Given the description of an element on the screen output the (x, y) to click on. 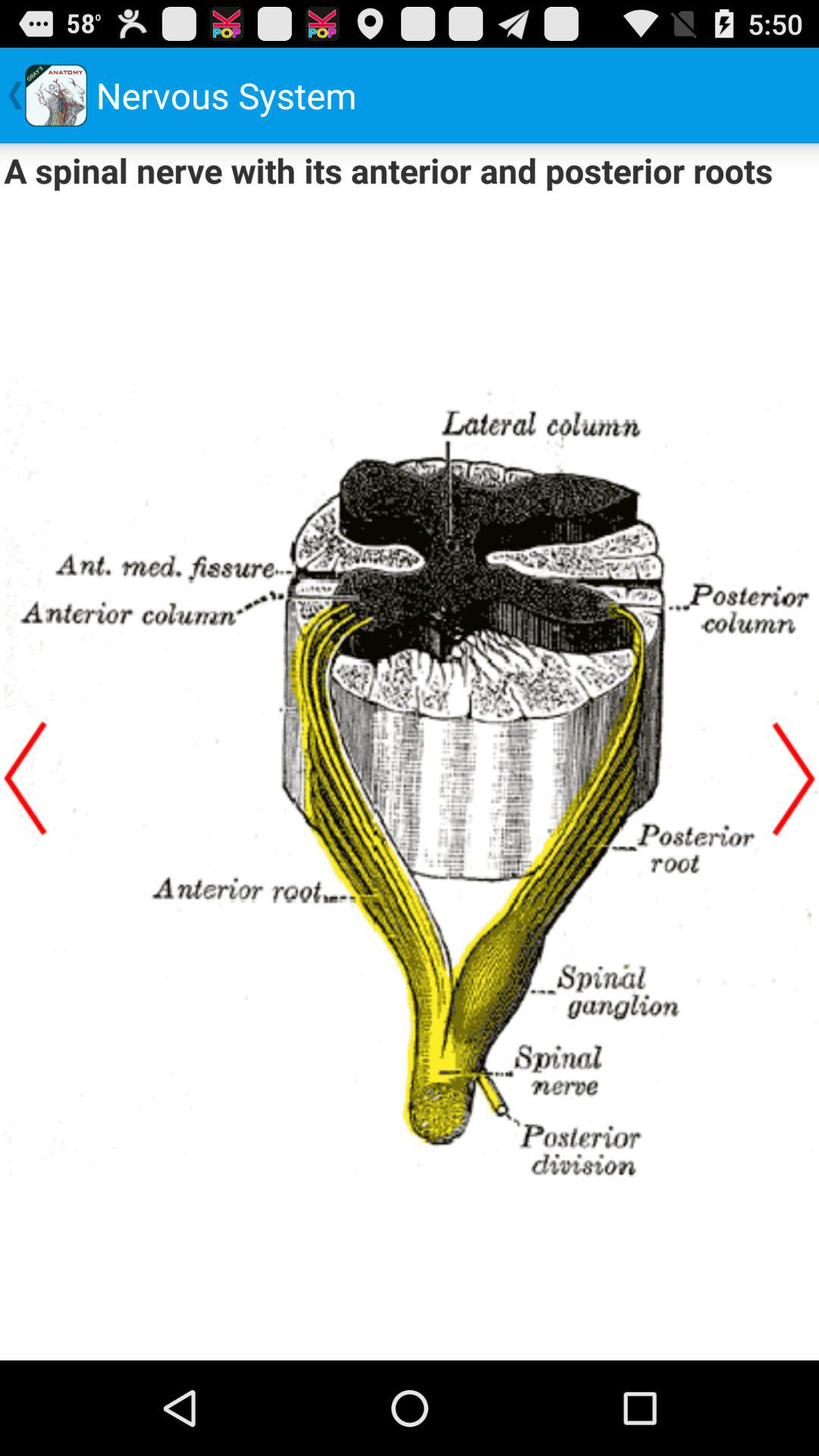
go back (25, 778)
